Given the description of an element on the screen output the (x, y) to click on. 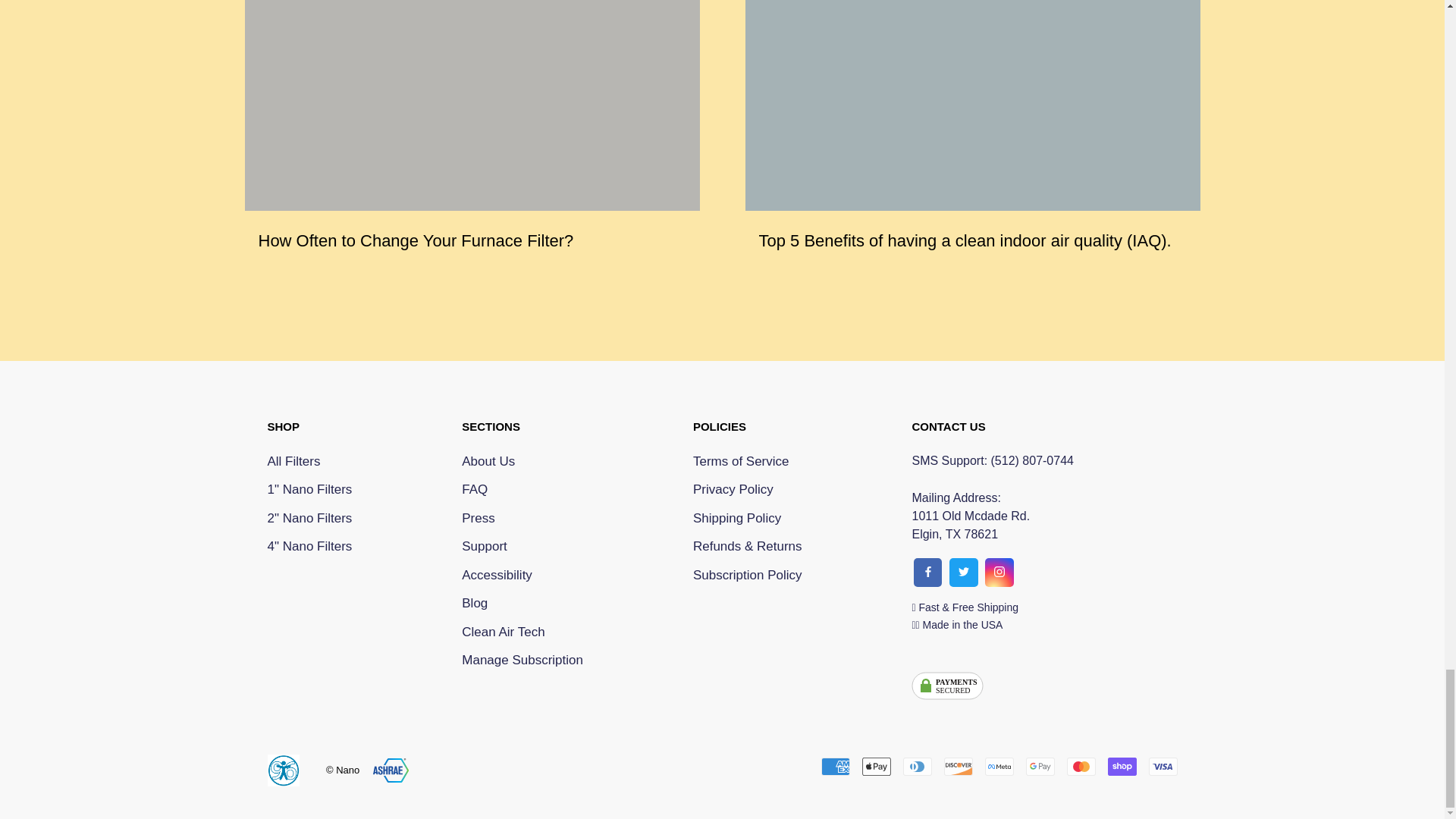
Mastercard (1079, 766)
Meta Pay (998, 766)
All Filters (309, 461)
1" Nano Filters (309, 489)
Diners Club (916, 766)
How Often to Change Your Furnace Filter? (415, 240)
2" Nano Filters (947, 689)
Discover (309, 518)
American Express (957, 766)
Apple Pay (834, 766)
Instagram (875, 766)
Visa (999, 572)
Google Pay (1162, 766)
Facebook (1039, 766)
